Given the description of an element on the screen output the (x, y) to click on. 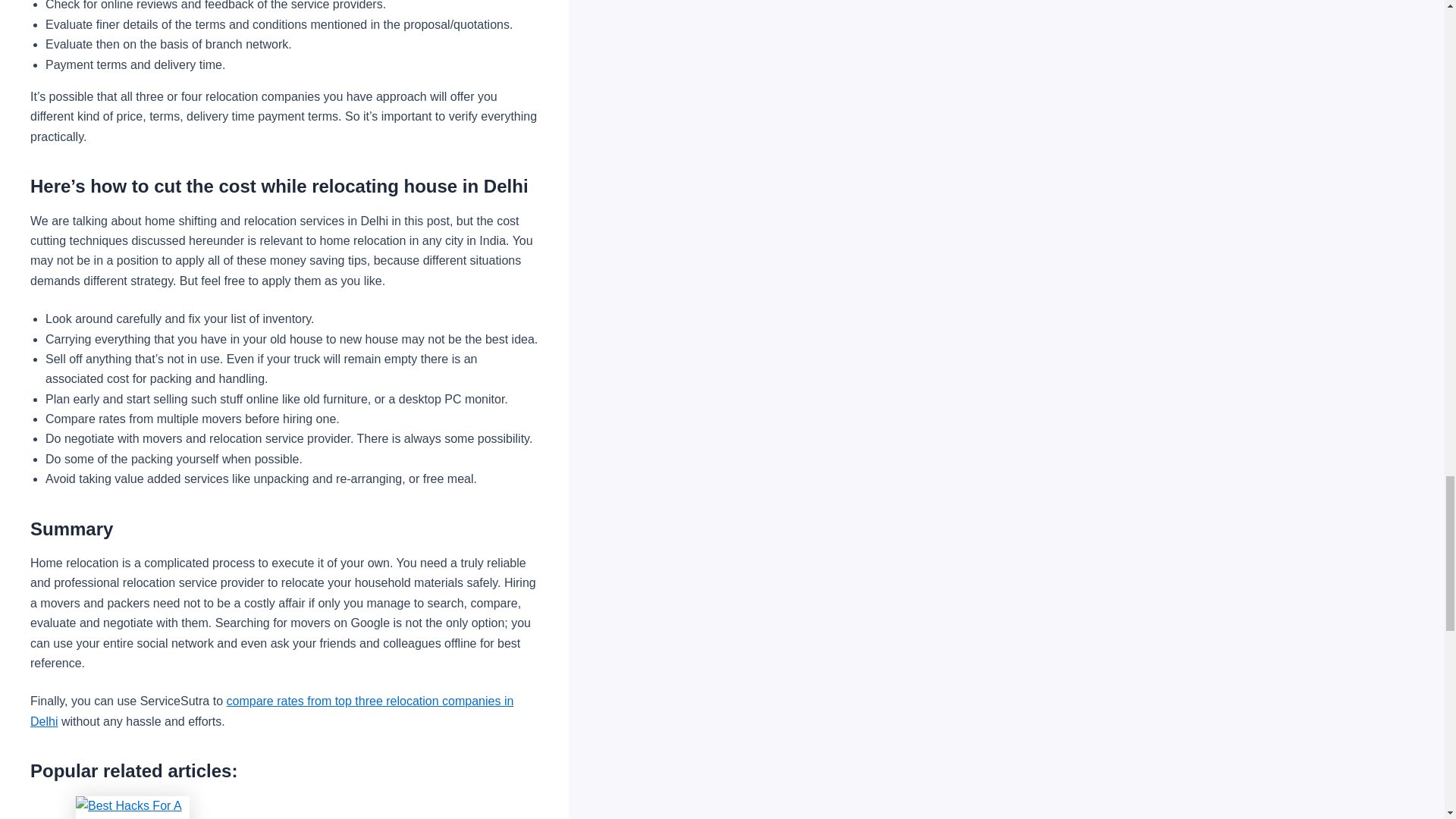
Best Hacks For A Smooth and Hassle Free House Move (132, 807)
compare rates from top three relocation companies in Delhi (271, 710)
Best Hacks For A Smooth and Hassle Free House Move (291, 807)
Compare and hire trusted packers and movers in Delhi NCR (271, 710)
